Given the description of an element on the screen output the (x, y) to click on. 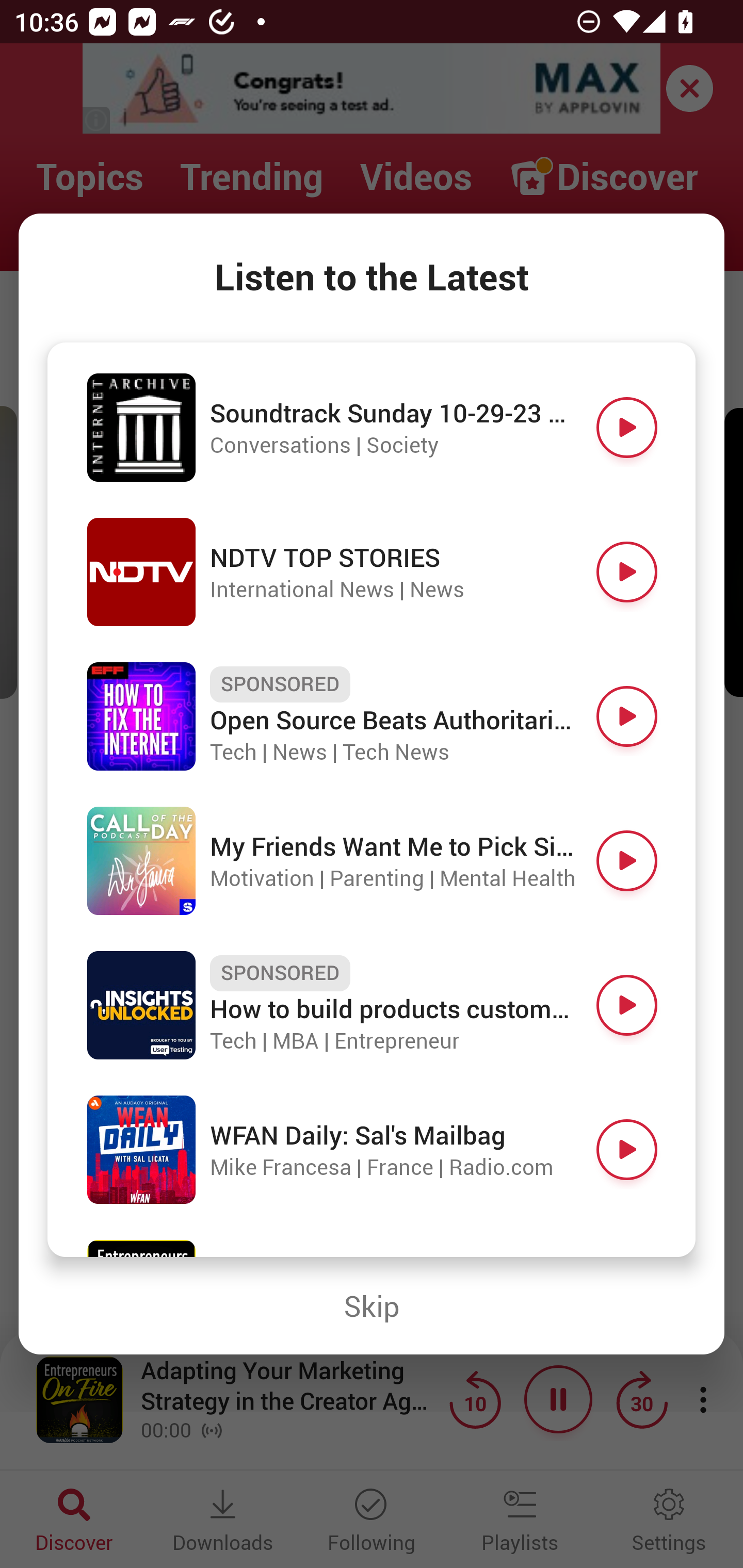
Skip (371, 1305)
